Given the description of an element on the screen output the (x, y) to click on. 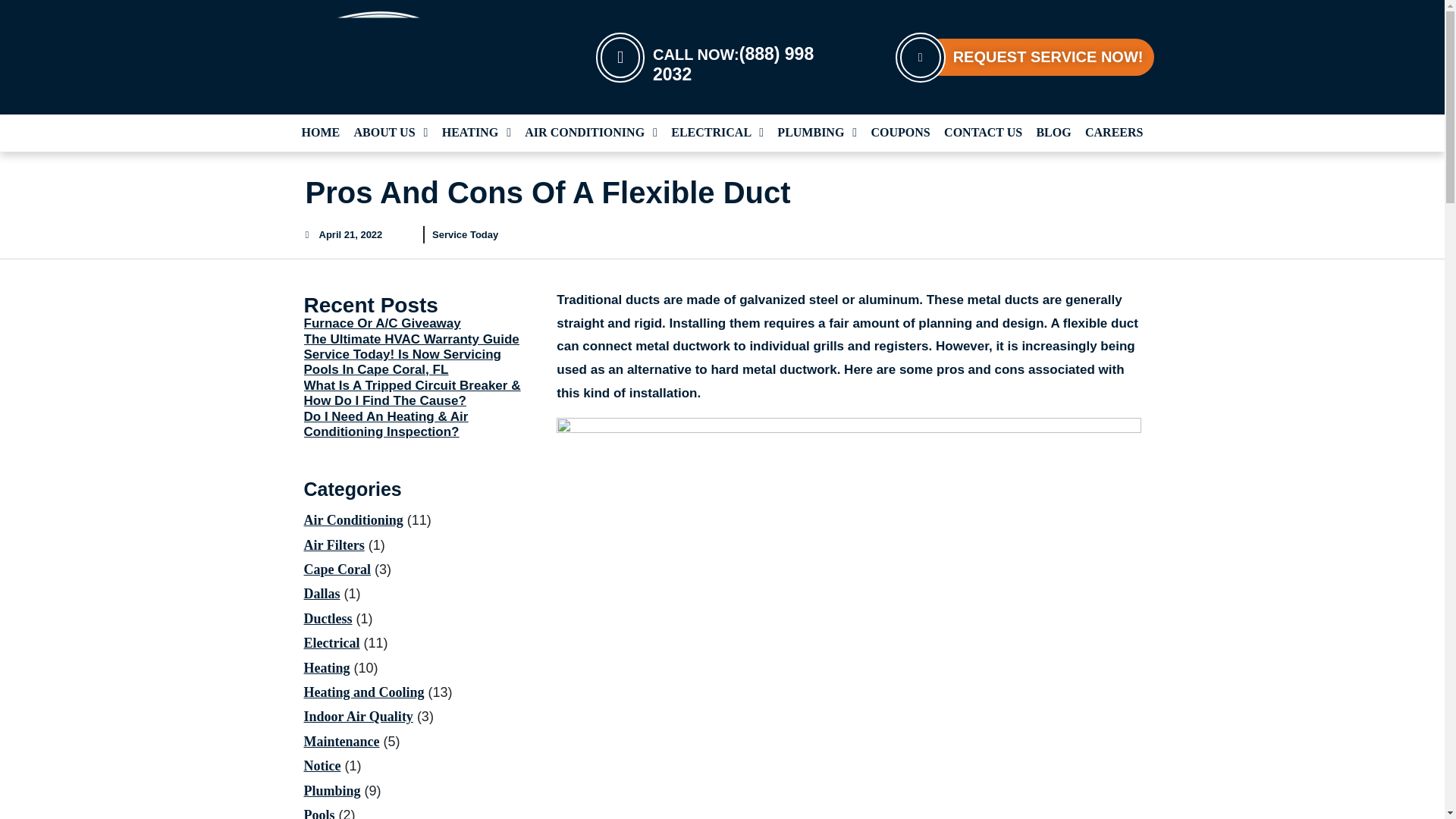
ABOUT US (390, 132)
REQUEST SERVICE NOW! (1024, 56)
HEATING (476, 132)
AIR CONDITIONING (591, 132)
ELECTRICAL (716, 132)
HOME (320, 132)
PLUMBING (817, 132)
